Given the description of an element on the screen output the (x, y) to click on. 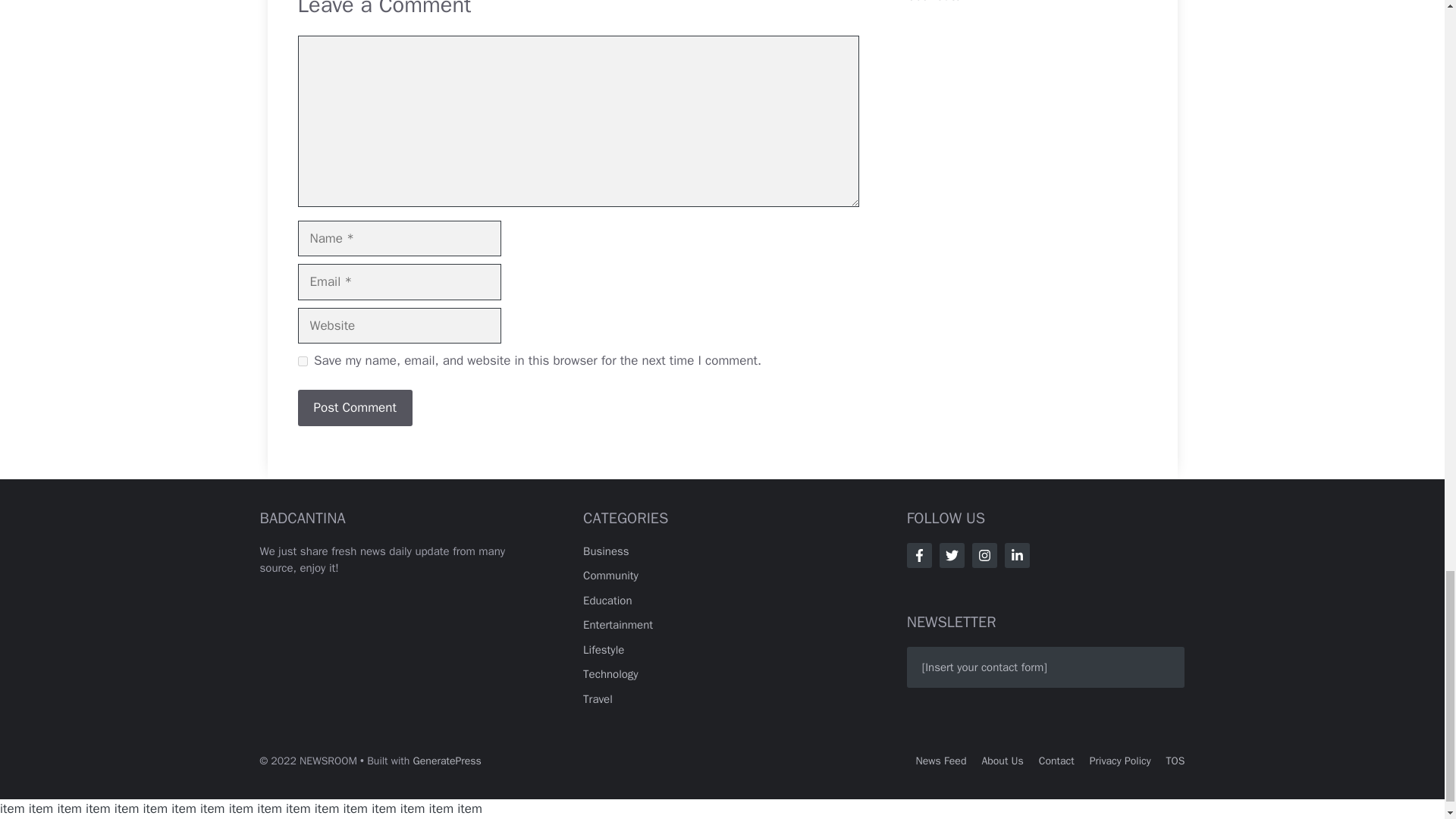
Post Comment (354, 407)
Entertainment (617, 624)
Community (611, 575)
Business (605, 550)
Post Comment (354, 407)
Education (607, 600)
yes (302, 361)
Lifestyle (603, 649)
Technology (611, 673)
